Given the description of an element on the screen output the (x, y) to click on. 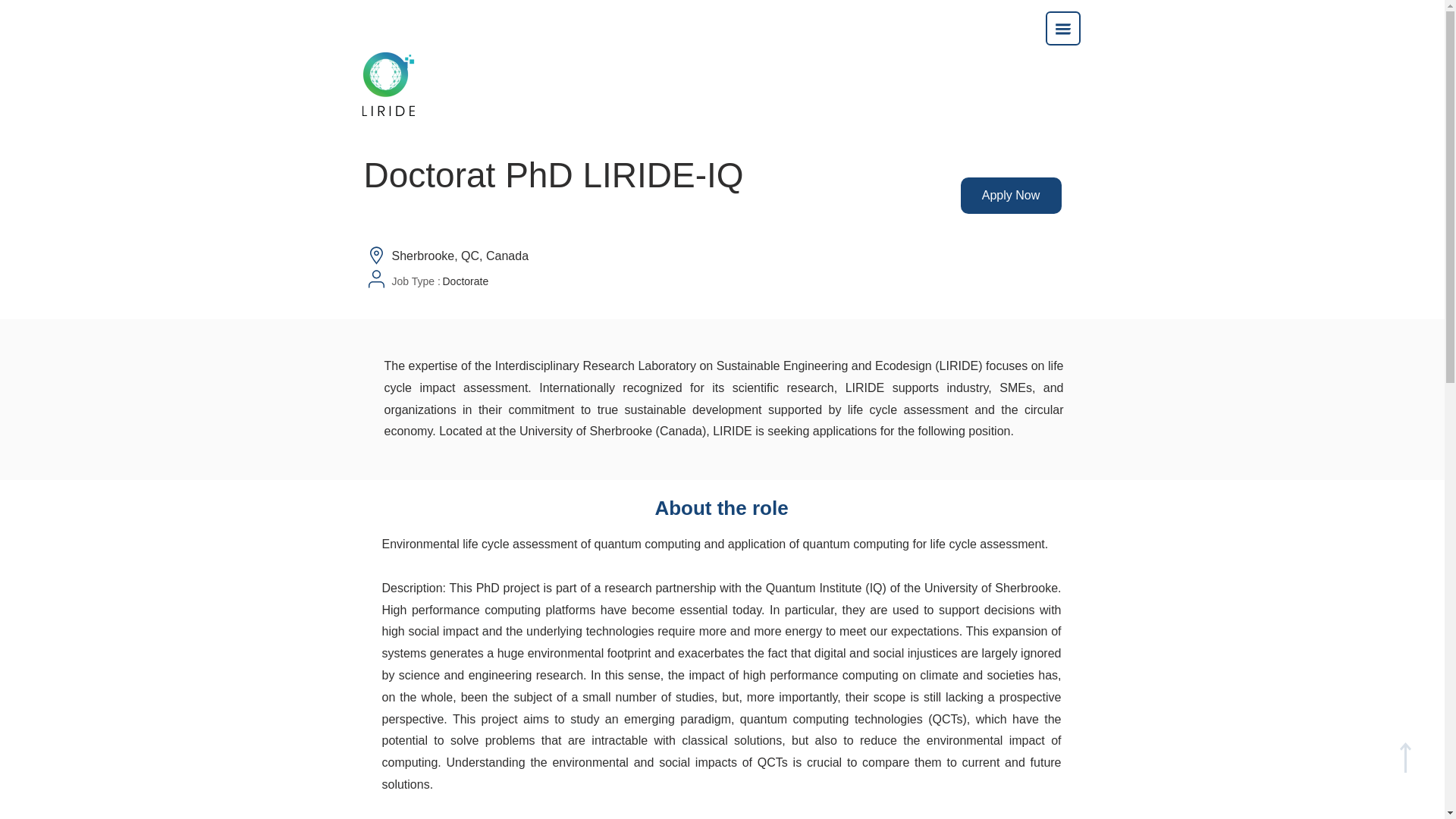
Apply Now (1010, 195)
